Given the description of an element on the screen output the (x, y) to click on. 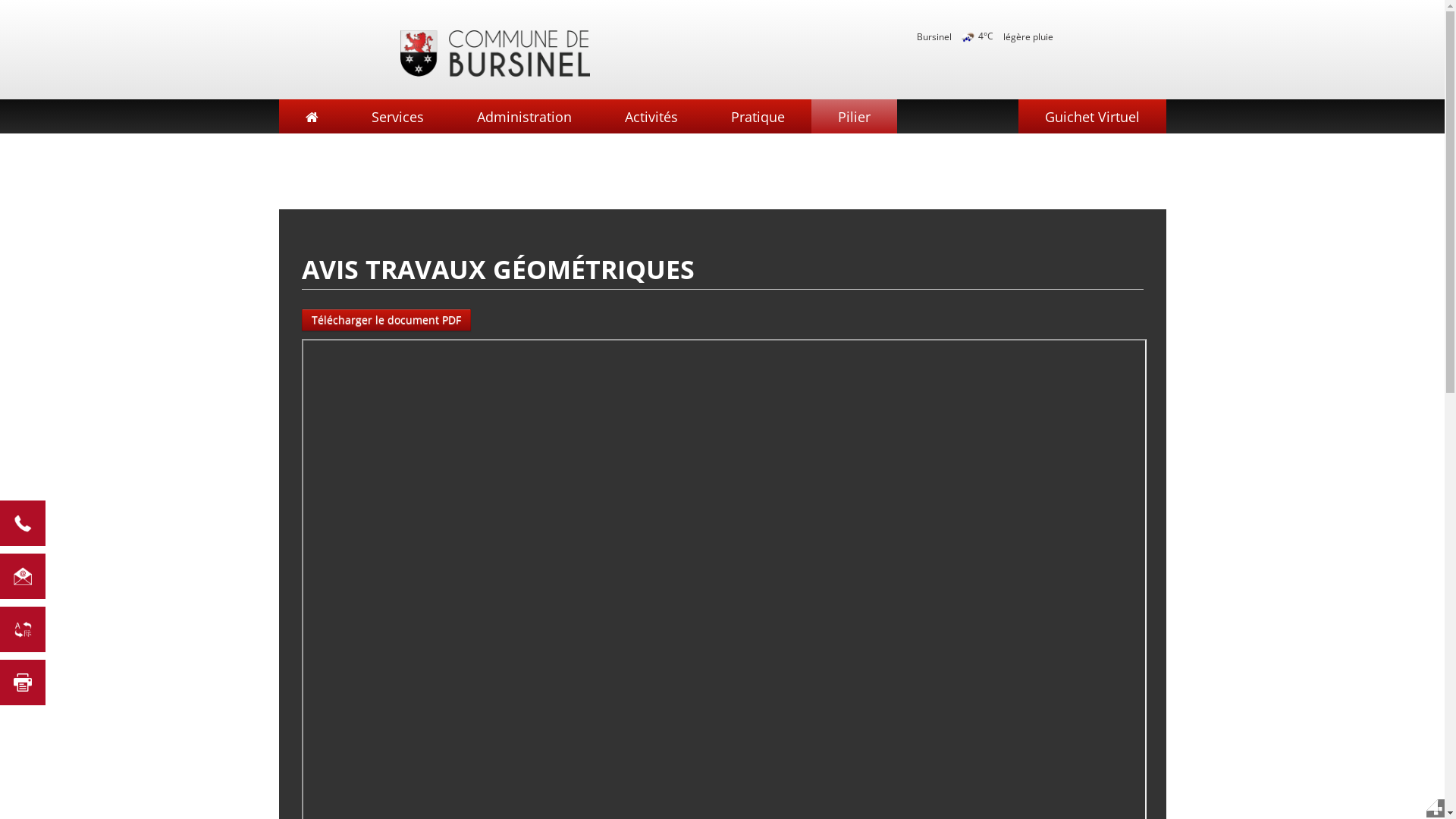
Services Element type: text (396, 116)
Pilier Element type: text (854, 116)
Guichet Virtuel Element type: text (1091, 116)
Pratique Element type: text (756, 116)
Administration Element type: text (524, 116)
